Given the description of an element on the screen output the (x, y) to click on. 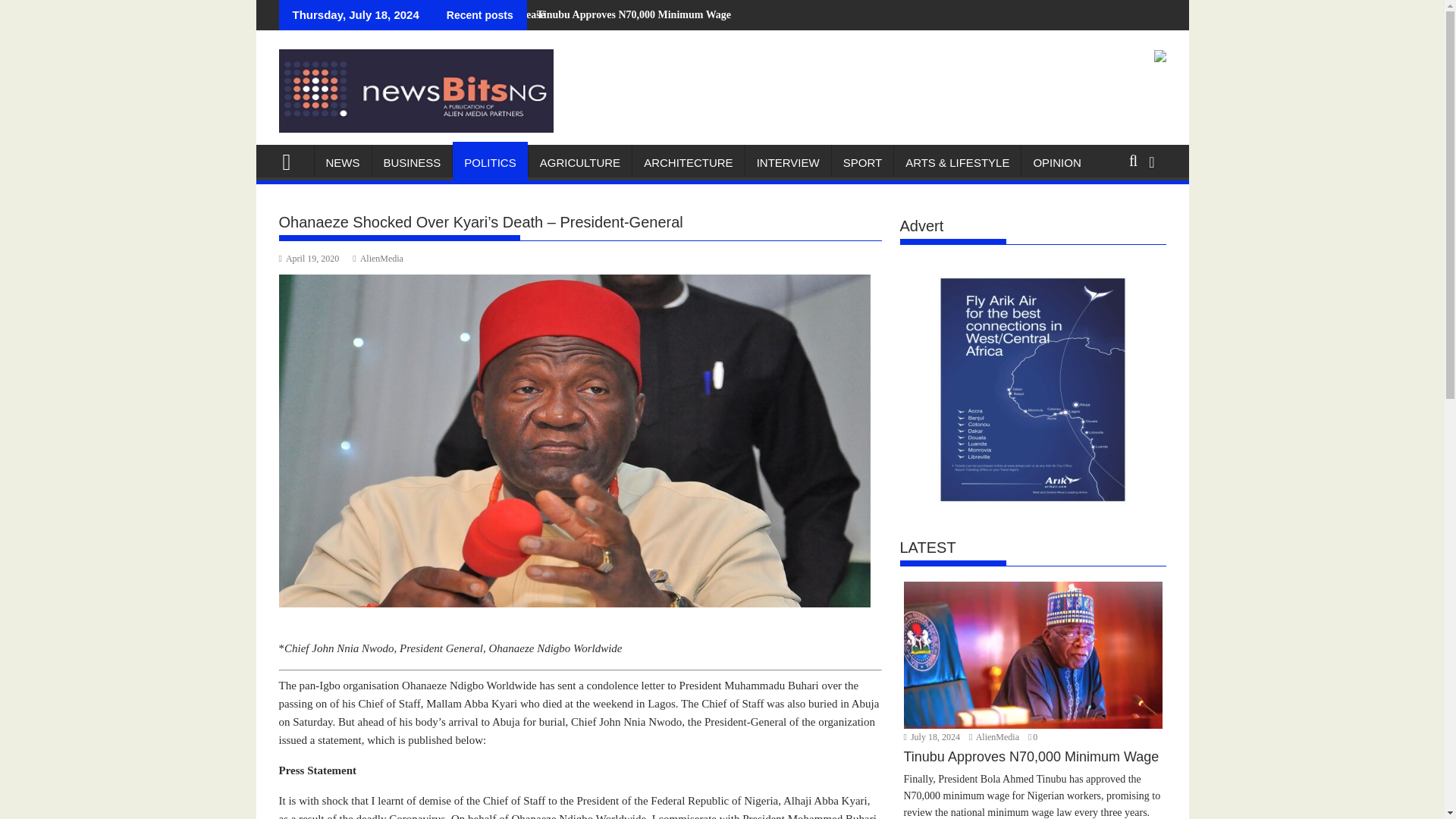
AlienMedia (377, 258)
INTERVIEW (788, 162)
Newsbits NG (293, 159)
April 19, 2020 (309, 258)
SPORT (862, 162)
Why PDP Governors Support Labour Demand For Salary Increase (387, 15)
Why PDP Governors Support Labour Demand For Salary Increase (387, 15)
ARCHITECTURE (687, 162)
AlienMedia (995, 737)
BUSINESS (411, 162)
AGRICULTURE (579, 162)
Tinubu Approves N70,000 Minimum Wage (628, 15)
Tinubu Approves N70,000 Minimum Wage (628, 15)
NEWS (342, 162)
OPINION (1057, 162)
